Given the description of an element on the screen output the (x, y) to click on. 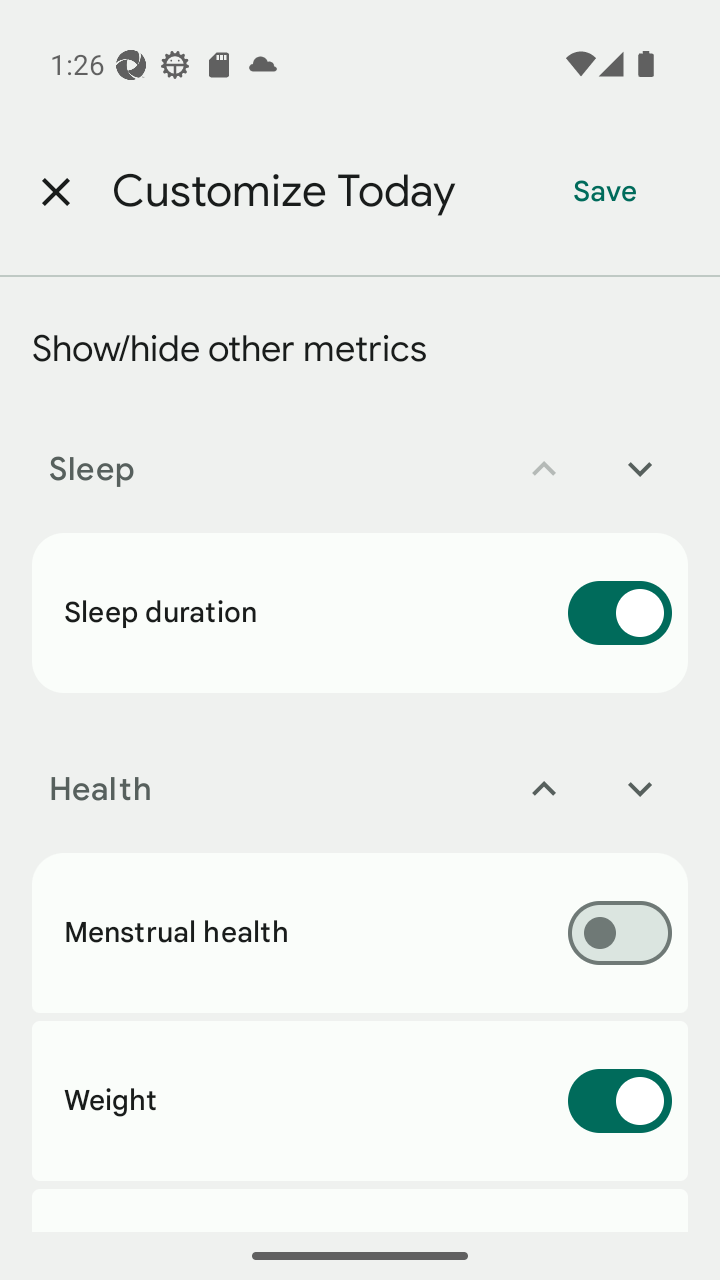
Close (55, 191)
Save (605, 191)
Move Sleep up (543, 469)
Move Sleep down (639, 469)
Sleep duration (359, 612)
Move Health up (543, 789)
Move Health down (639, 789)
Menstrual health (359, 932)
Weight (359, 1101)
